Given the description of an element on the screen output the (x, y) to click on. 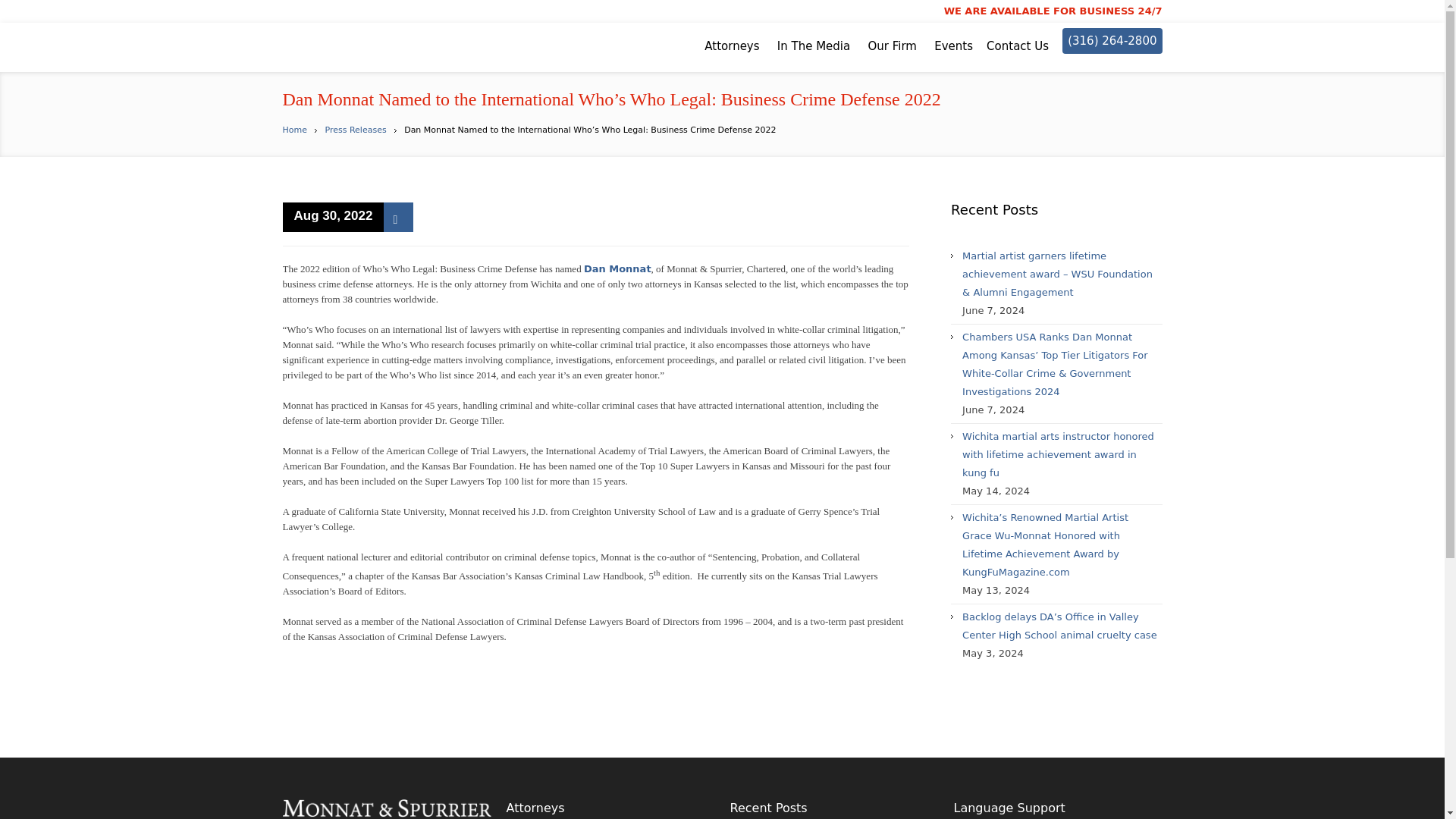
Press Releases (354, 130)
Our Firm (891, 46)
Dan Monnat (616, 268)
Home (293, 130)
In The Media (813, 46)
Contact Us (1017, 46)
Aug 30, 2022 (333, 216)
Attorneys (731, 46)
